Given the description of an element on the screen output the (x, y) to click on. 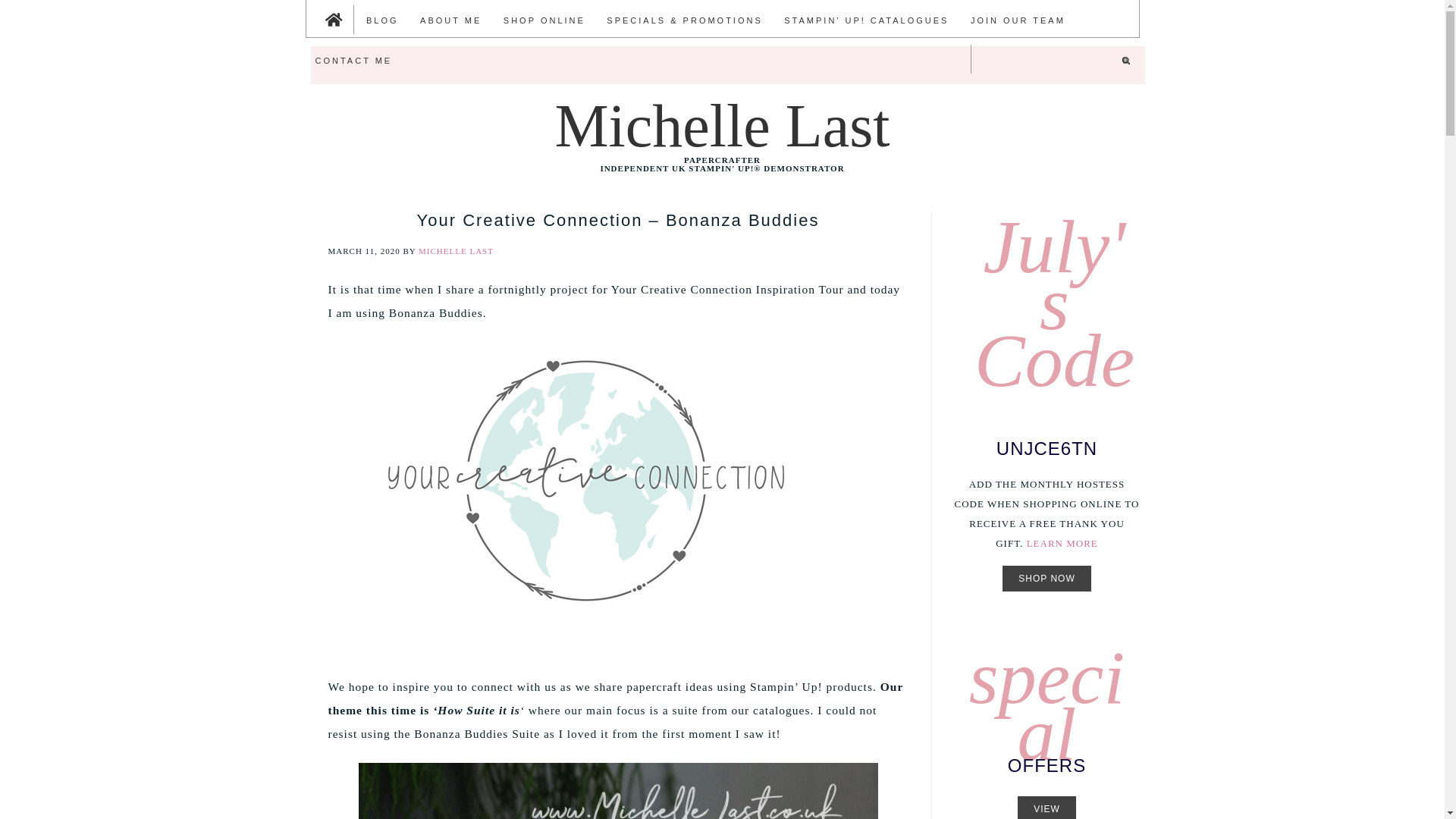
Michelle Last (721, 125)
CONTACT ME (353, 60)
SHOP ONLINE (544, 20)
BLOG (381, 20)
ABOUT ME (450, 20)
JOIN OUR TEAM (1017, 20)
MICHELLE LAST (456, 250)
